Given the description of an element on the screen output the (x, y) to click on. 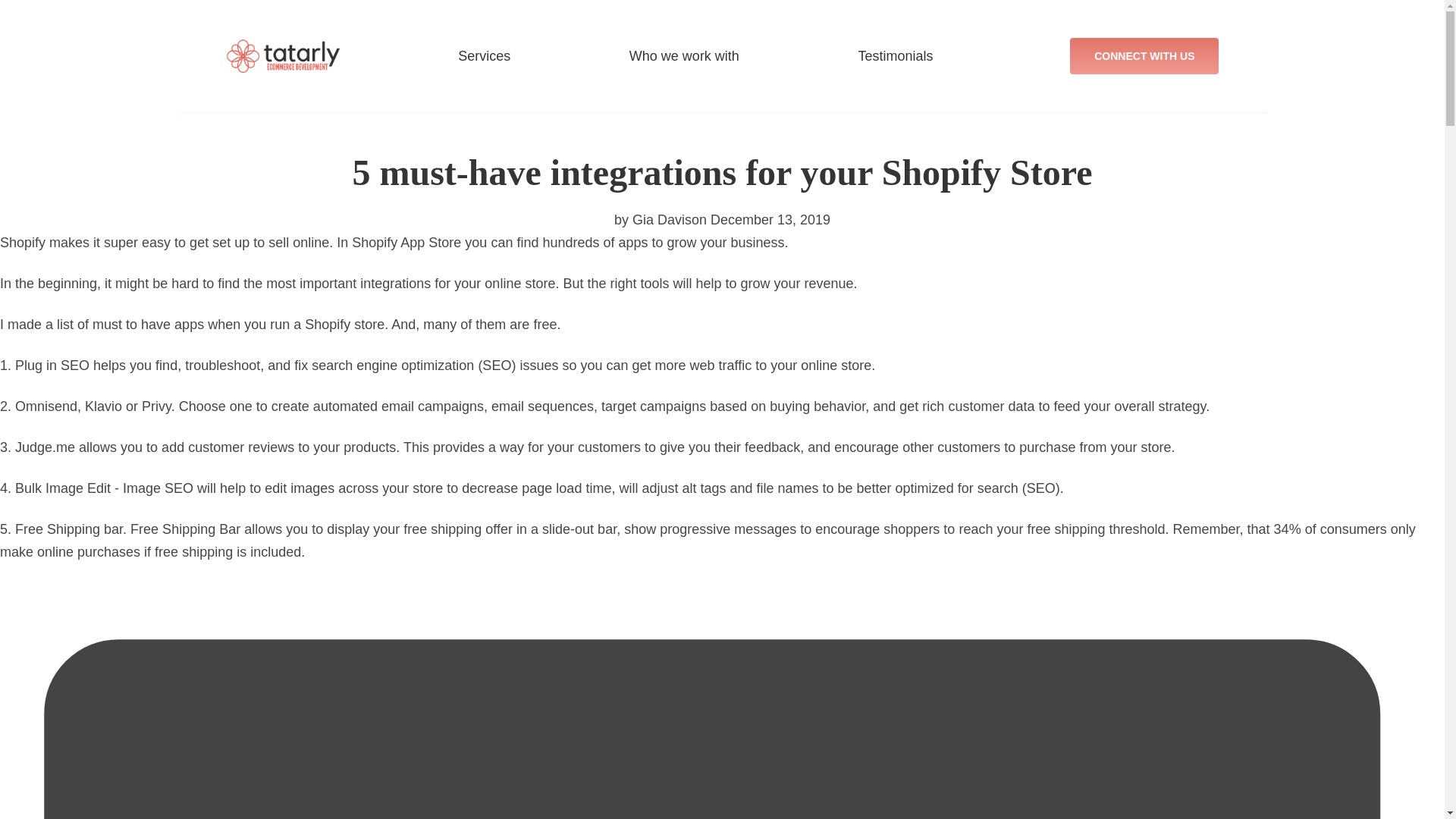
Services (484, 56)
Testimonials (896, 56)
CONNECT WITH US (1144, 55)
Who we work with (683, 56)
